Given the description of an element on the screen output the (x, y) to click on. 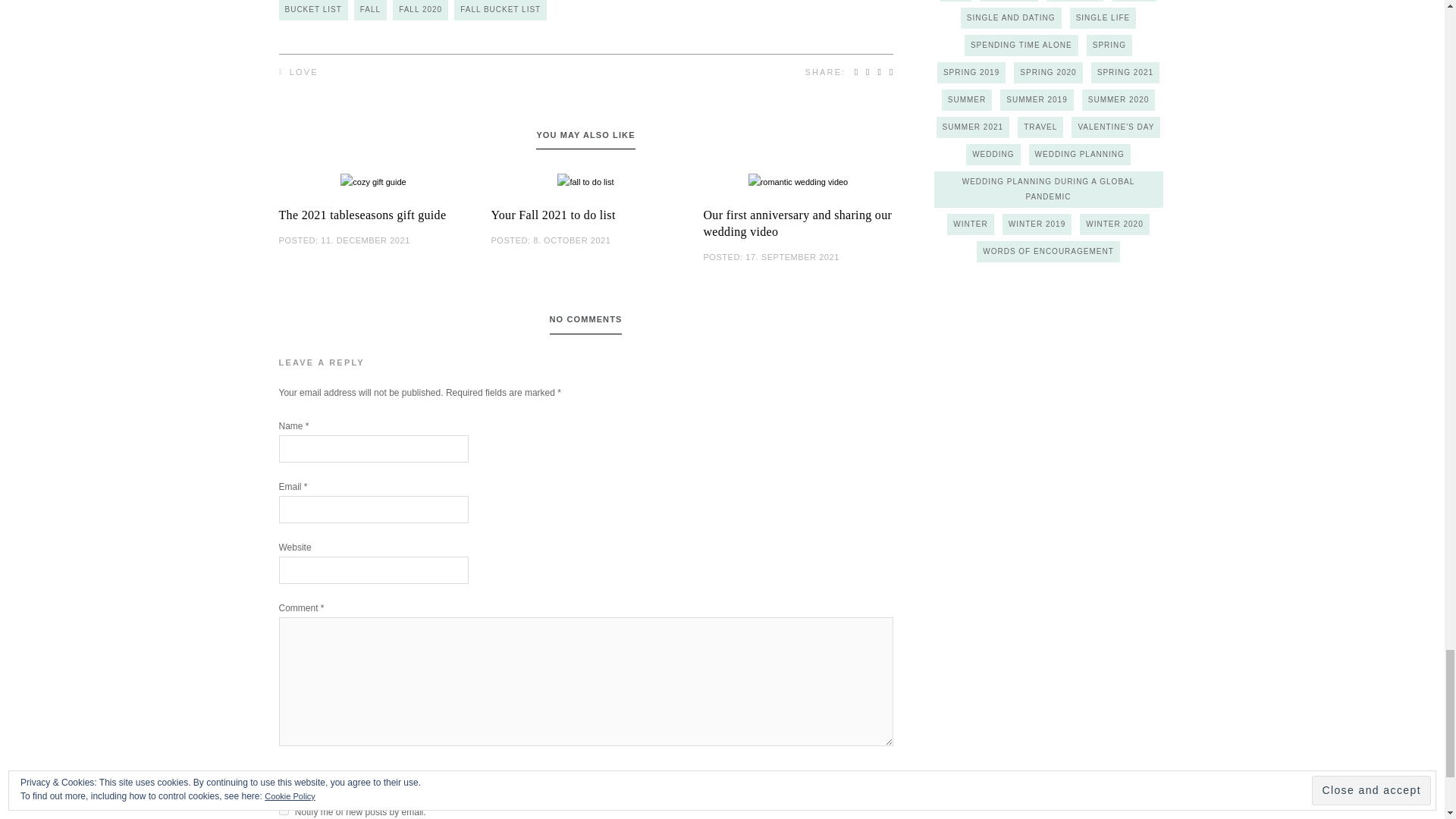
BUCKET LIST (313, 10)
subscribe (283, 782)
Love (298, 71)
subscribe (283, 809)
FALL BUCKET LIST (500, 10)
LOVE (298, 71)
FALL 2020 (420, 10)
FALL (370, 10)
